Given the description of an element on the screen output the (x, y) to click on. 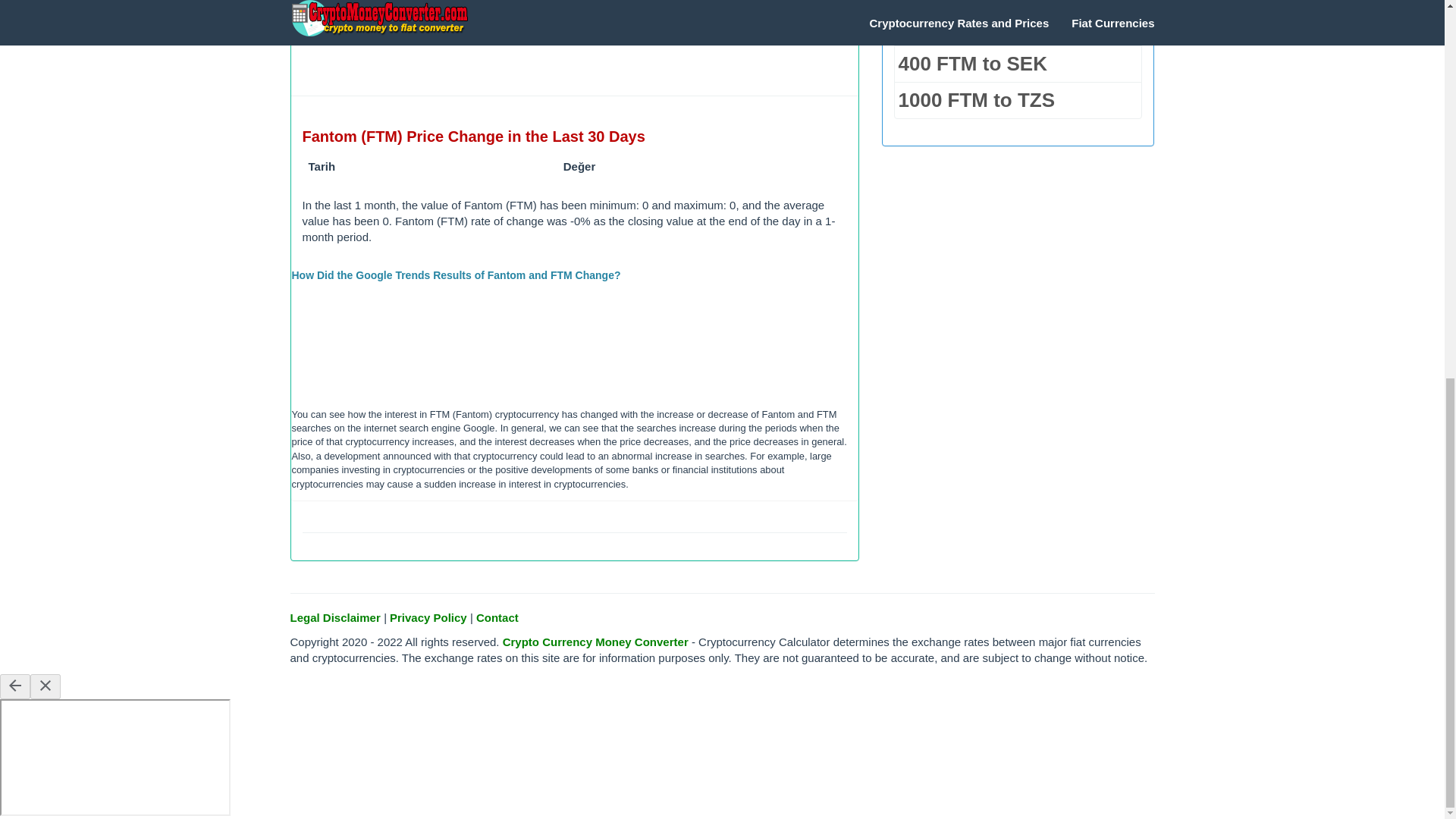
100000 FTM to NPR (1017, 4)
Legal Disclaimer (334, 617)
trends-widget-1 (574, 346)
1000 FTM to TZS Convert (1017, 99)
Crypto Currency Money Converter (595, 641)
100000 FTM to NPR Convert (1017, 4)
Advertisement (575, 39)
400 FTM to SEK Convert (1017, 63)
400 FTM to SEK (1017, 26)
400 FTM to SEK (1017, 63)
1000 FTM to TZS (1017, 99)
Privacy Policy (428, 617)
400 FTM to SEK Convert (1017, 26)
Contact (497, 617)
